Given the description of an element on the screen output the (x, y) to click on. 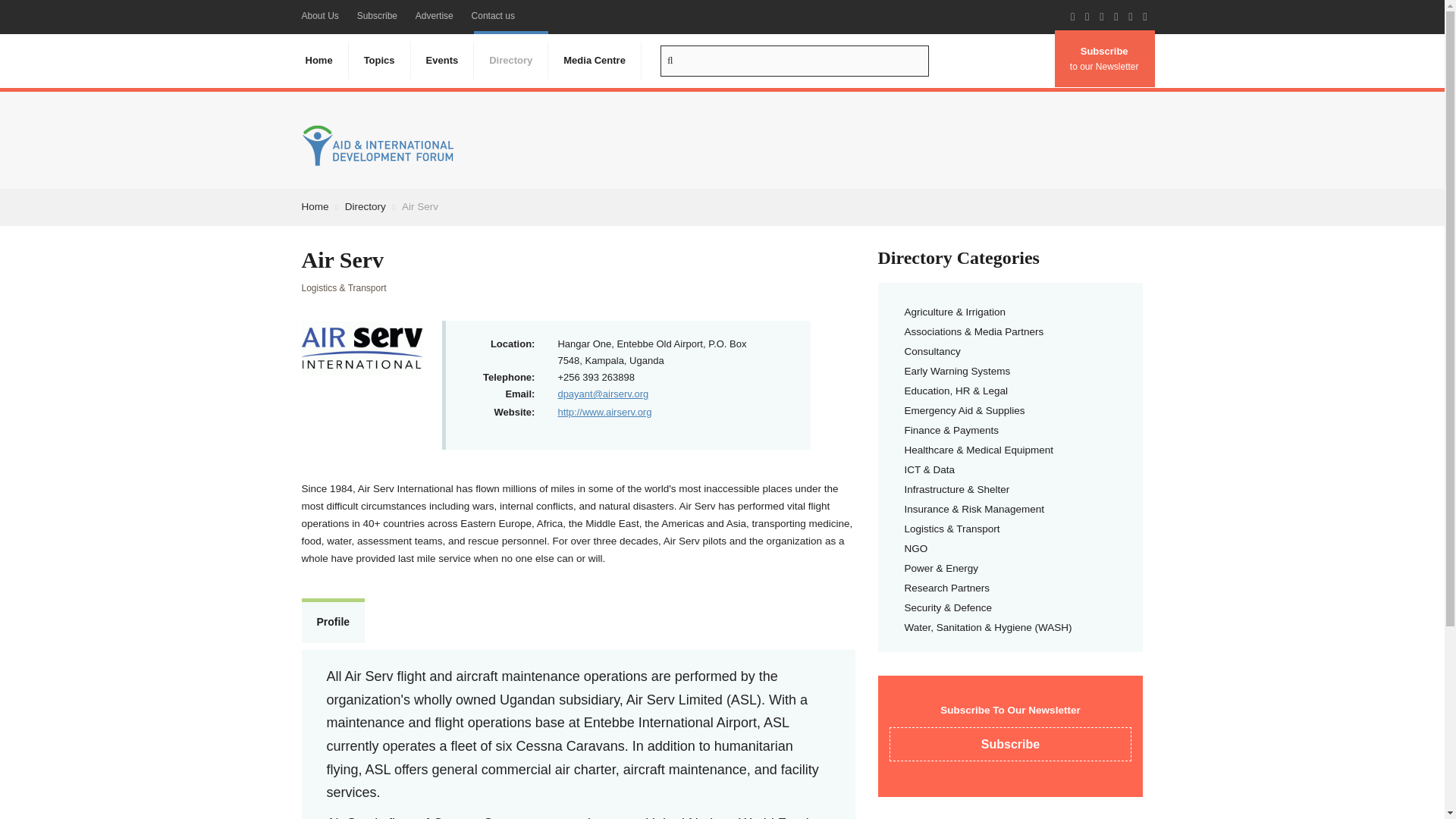
Contact us (493, 15)
Home (318, 60)
Subscribe (376, 15)
Topics (379, 60)
Advertise (434, 15)
About Us (320, 15)
